Given the description of an element on the screen output the (x, y) to click on. 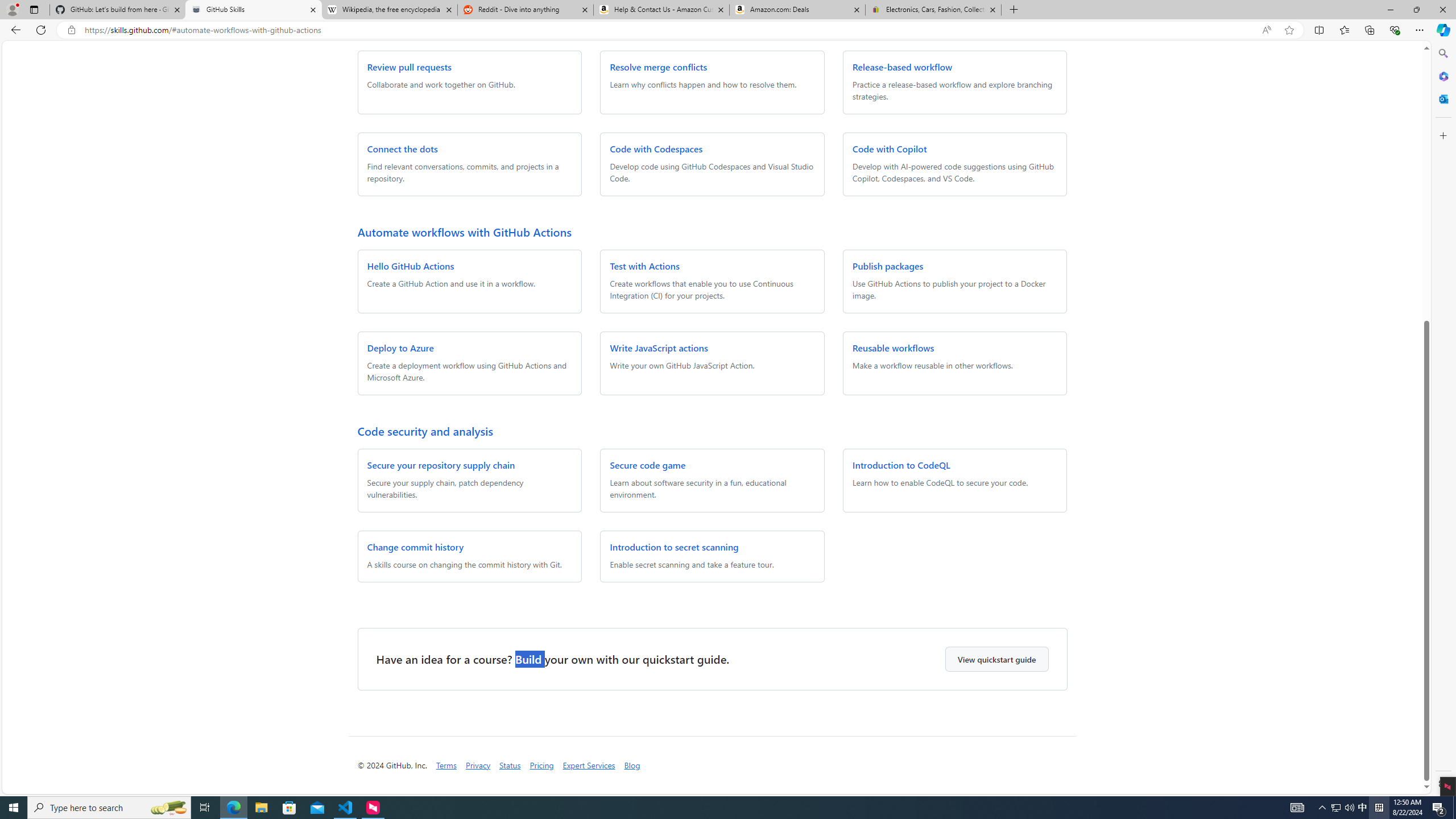
Status (510, 765)
Pricing (541, 765)
Change commit history (415, 546)
Introduction to secret scanning (674, 546)
Secure code game (647, 464)
Terms (446, 765)
